Given the description of an element on the screen output the (x, y) to click on. 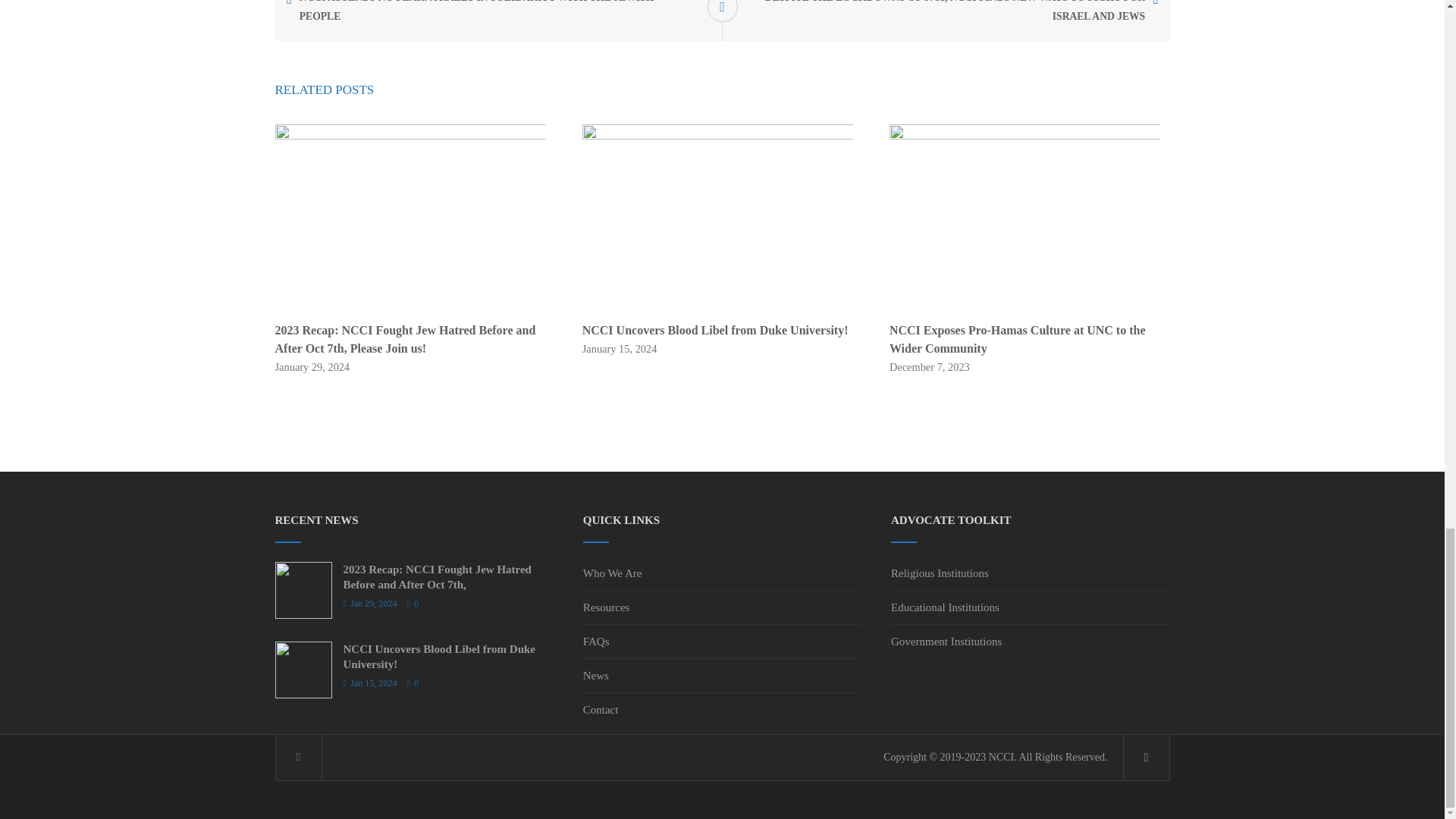
View All (721, 11)
